Given the description of an element on the screen output the (x, y) to click on. 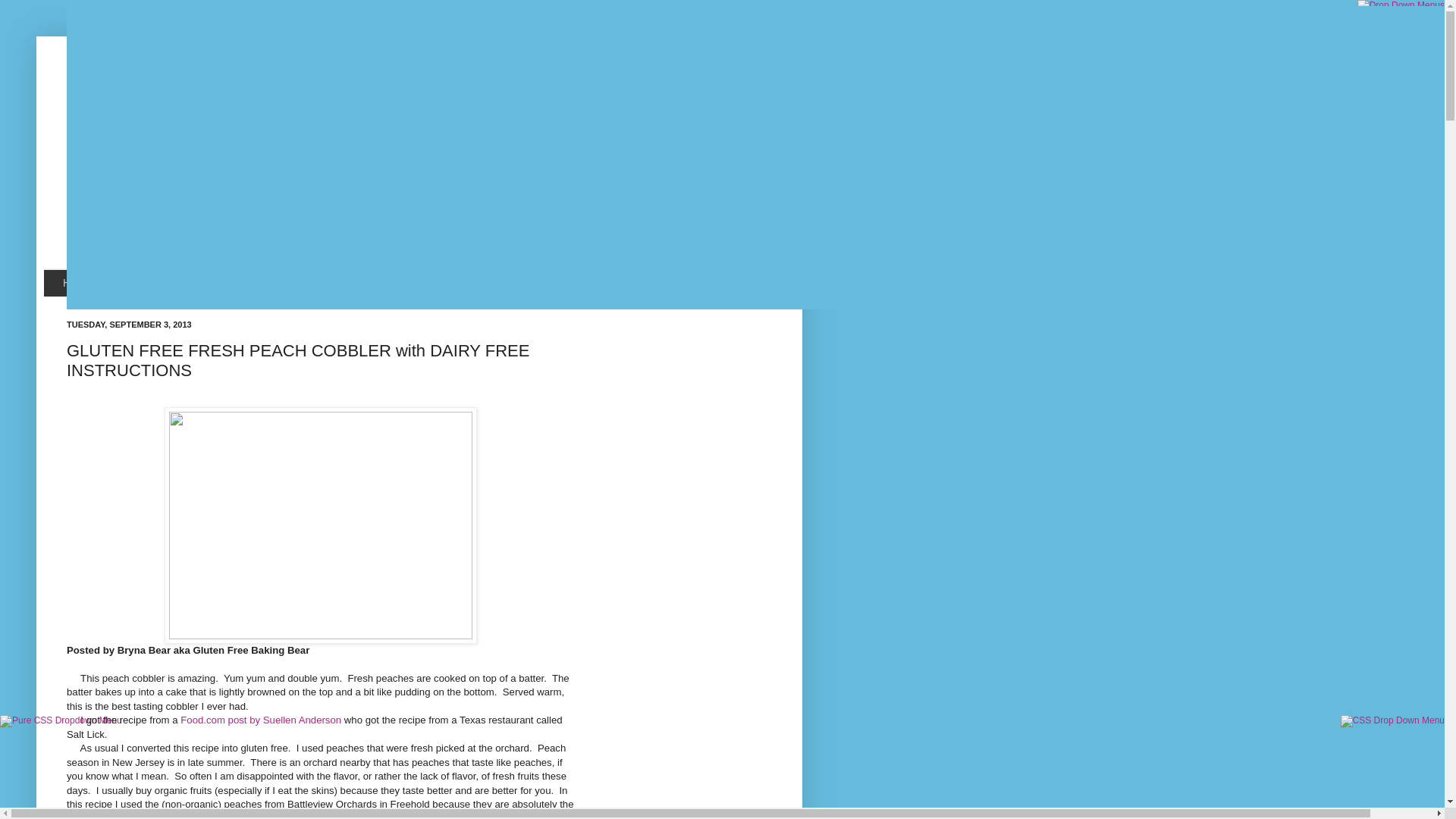
Home (76, 283)
Food.com post by Suellen Anderson (260, 719)
GF Tea Parties (397, 283)
My GF Recipes (166, 283)
Gluten Free Baking Bear (391, 135)
About GF Baking (283, 283)
